Given the description of an element on the screen output the (x, y) to click on. 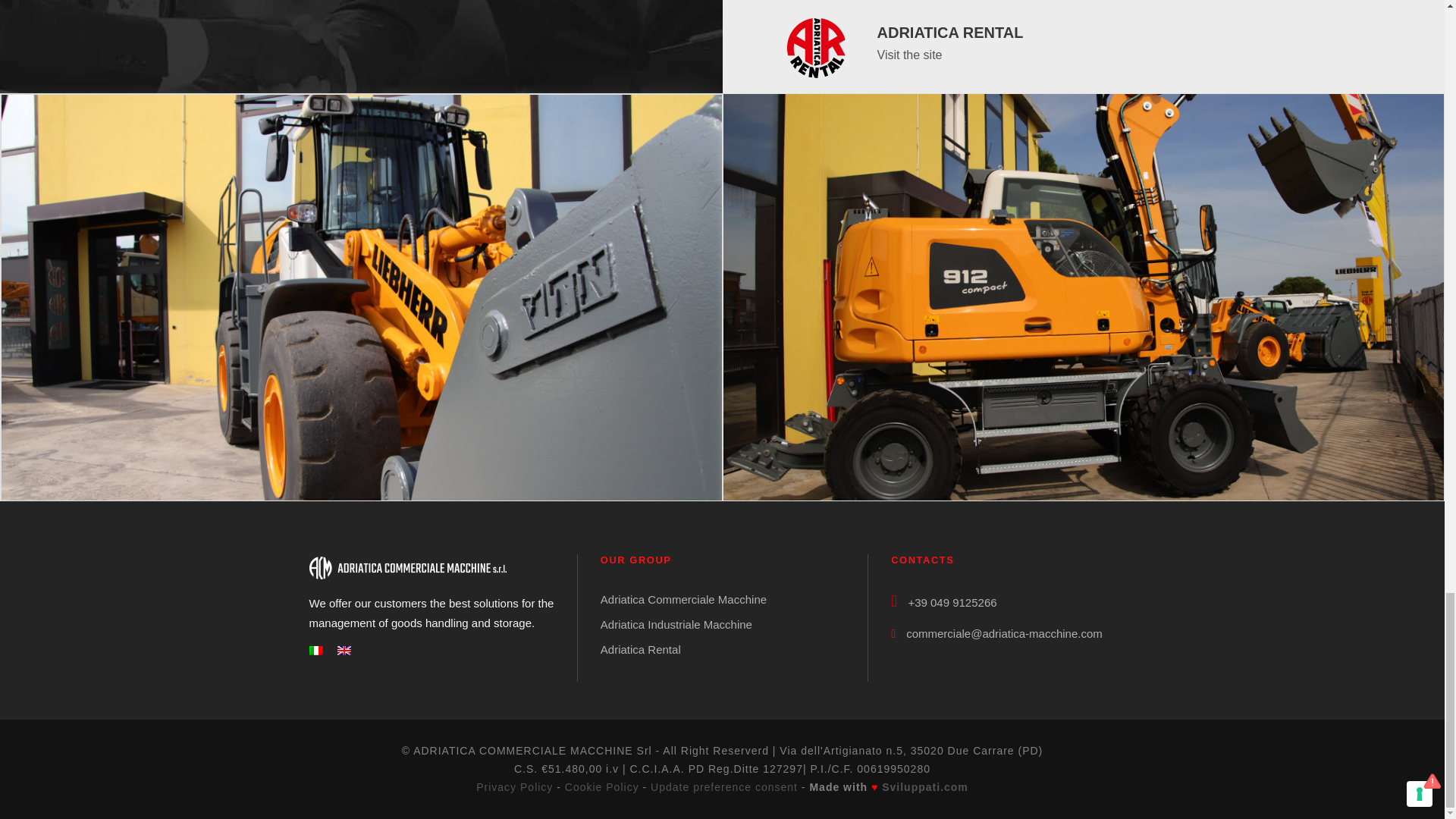
Cookie Policy  (601, 787)
Privacy Policy  (514, 787)
Adriatica Rental Srl (817, 47)
